Given the description of an element on the screen output the (x, y) to click on. 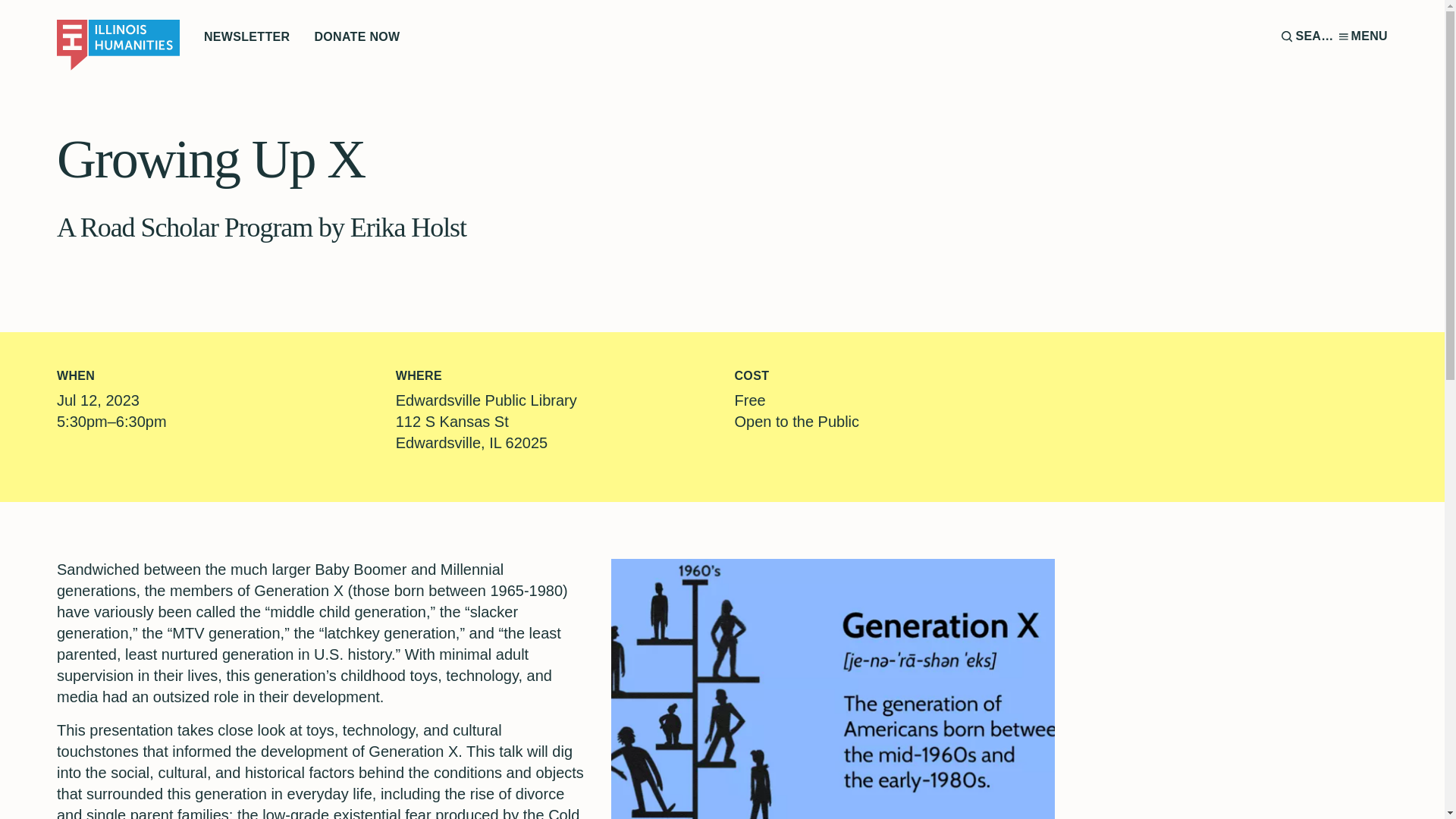
MENU (1363, 36)
DONATE NOW (356, 37)
NEWSLETTER (246, 37)
